Given the description of an element on the screen output the (x, y) to click on. 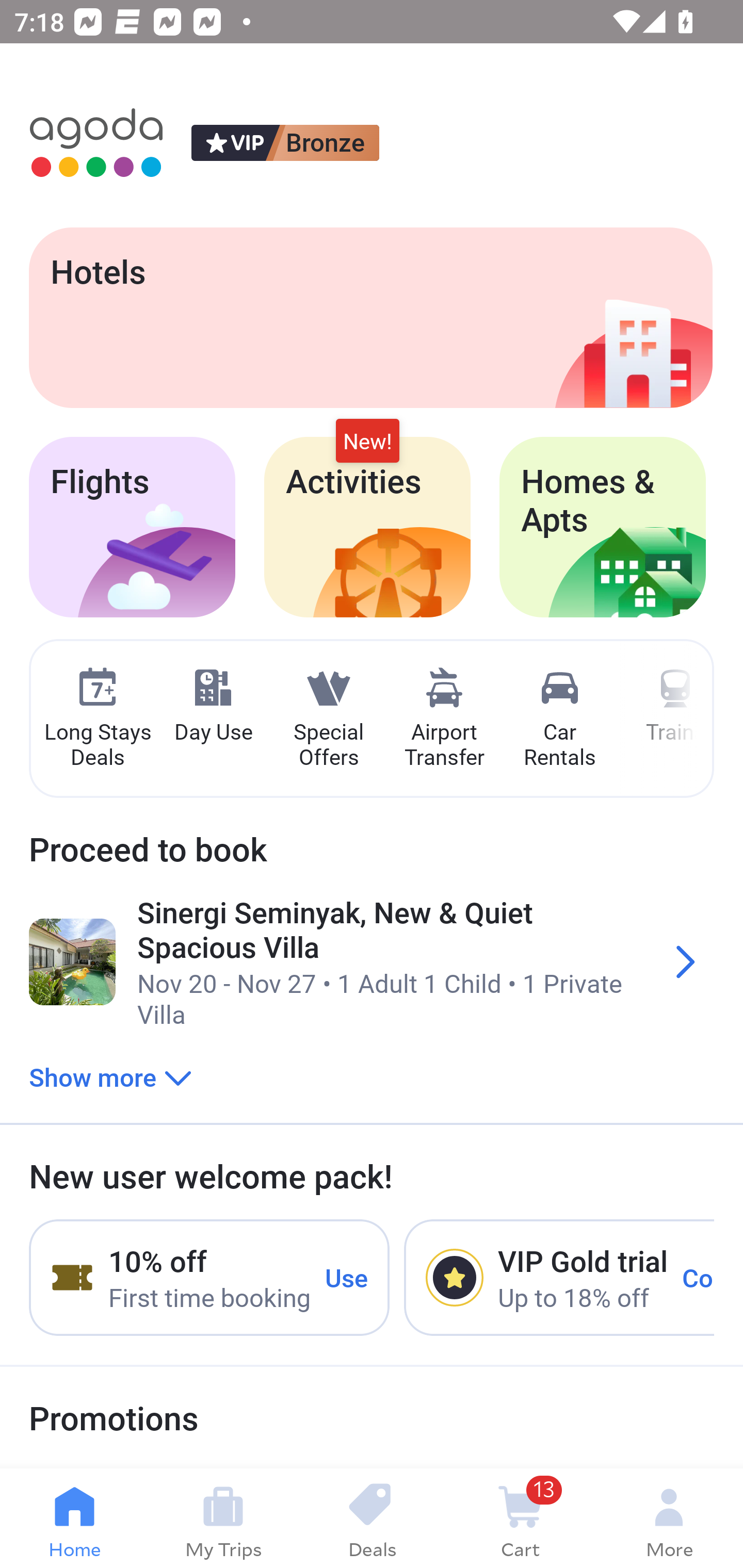
Hotels (370, 317)
New! (367, 441)
Flights (131, 527)
Activities (367, 527)
Homes & Apts (602, 527)
Day Use (213, 706)
Long Stays Deals (97, 718)
Special Offers (328, 718)
Airport Transfer (444, 718)
Car Rentals (559, 718)
Show more (110, 1076)
Use (346, 1277)
Home (74, 1518)
My Trips (222, 1518)
Deals (371, 1518)
13 Cart (519, 1518)
More (668, 1518)
